Given the description of an element on the screen output the (x, y) to click on. 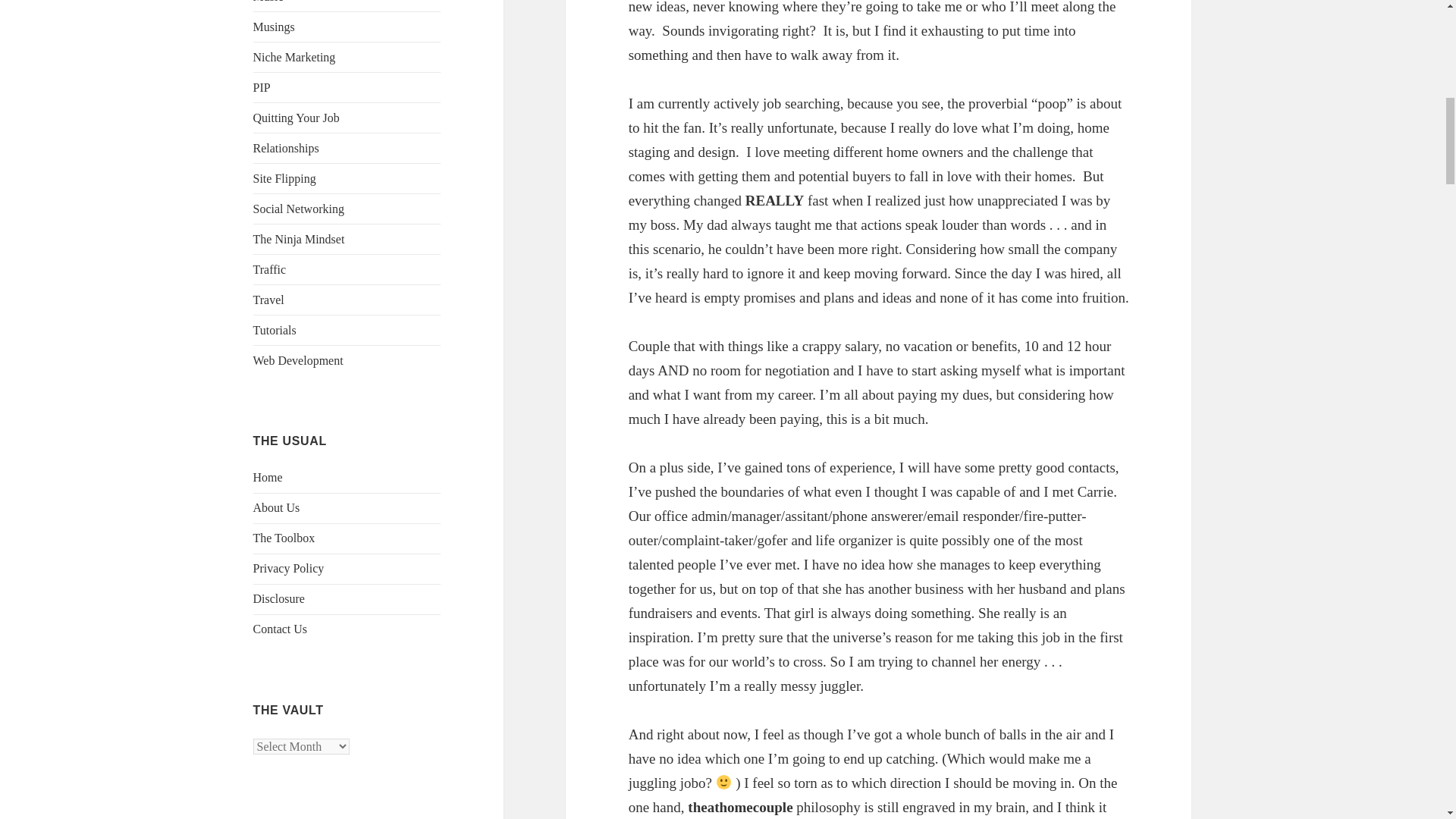
Tutorials (275, 329)
Travel (268, 299)
Quitting Your Job (296, 117)
Music (268, 1)
Home (267, 477)
Social Networking (298, 208)
Web Development (298, 359)
Niche Marketing (294, 56)
Disclosure (278, 598)
Privacy Policy (288, 567)
The Toolbox (284, 537)
Site Flipping (284, 178)
The Ninja Mindset (299, 238)
PIP (261, 87)
Traffic (269, 269)
